Given the description of an element on the screen output the (x, y) to click on. 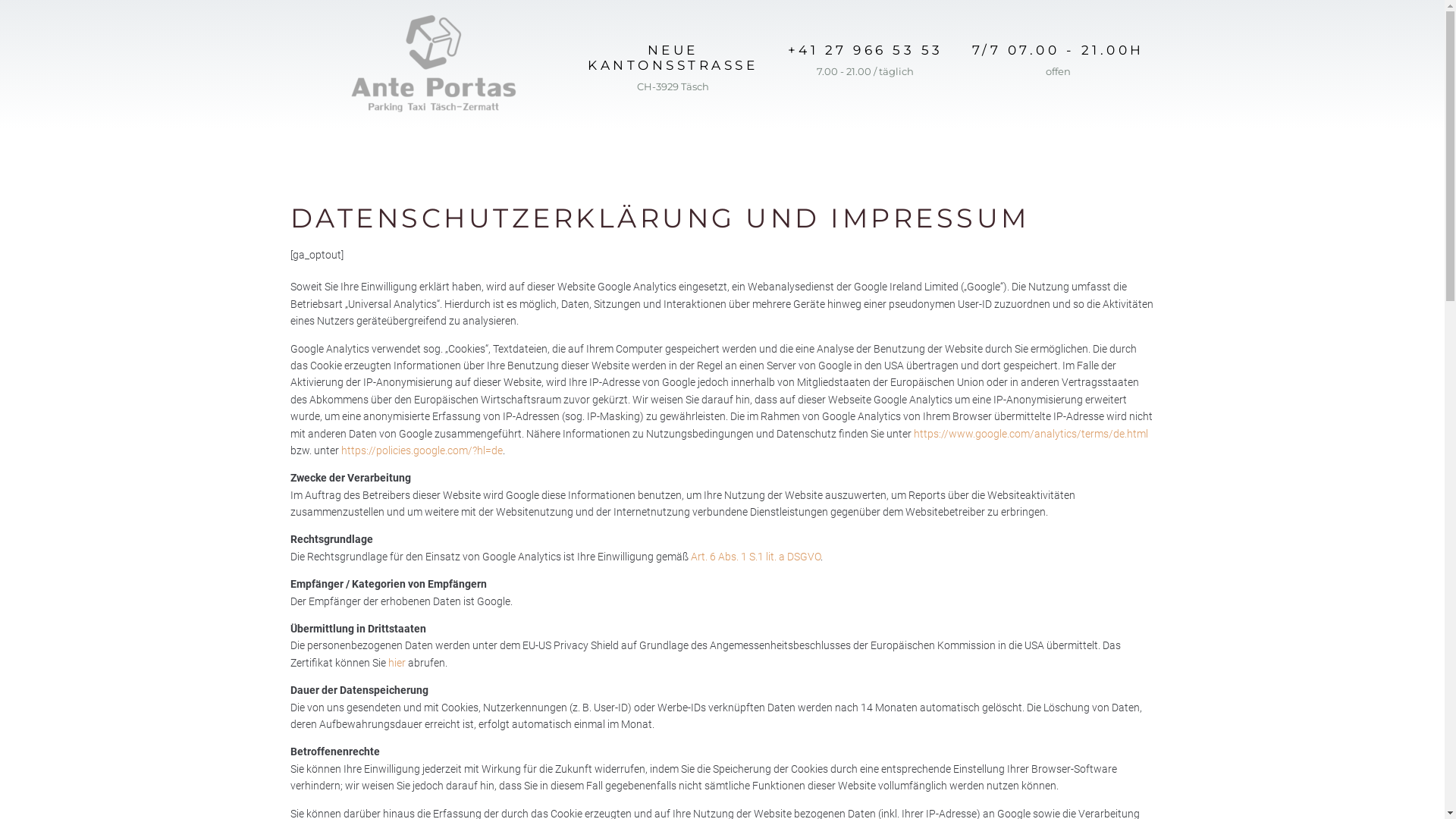
https://www.google.com/analytics/terms/de.html Element type: text (1030, 433)
https://policies.google.com/?hl=de Element type: text (421, 450)
hier Element type: text (396, 662)
Art. 6 Abs. 1 S.1 lit. a DSGVO Element type: text (754, 556)
